Given the description of an element on the screen output the (x, y) to click on. 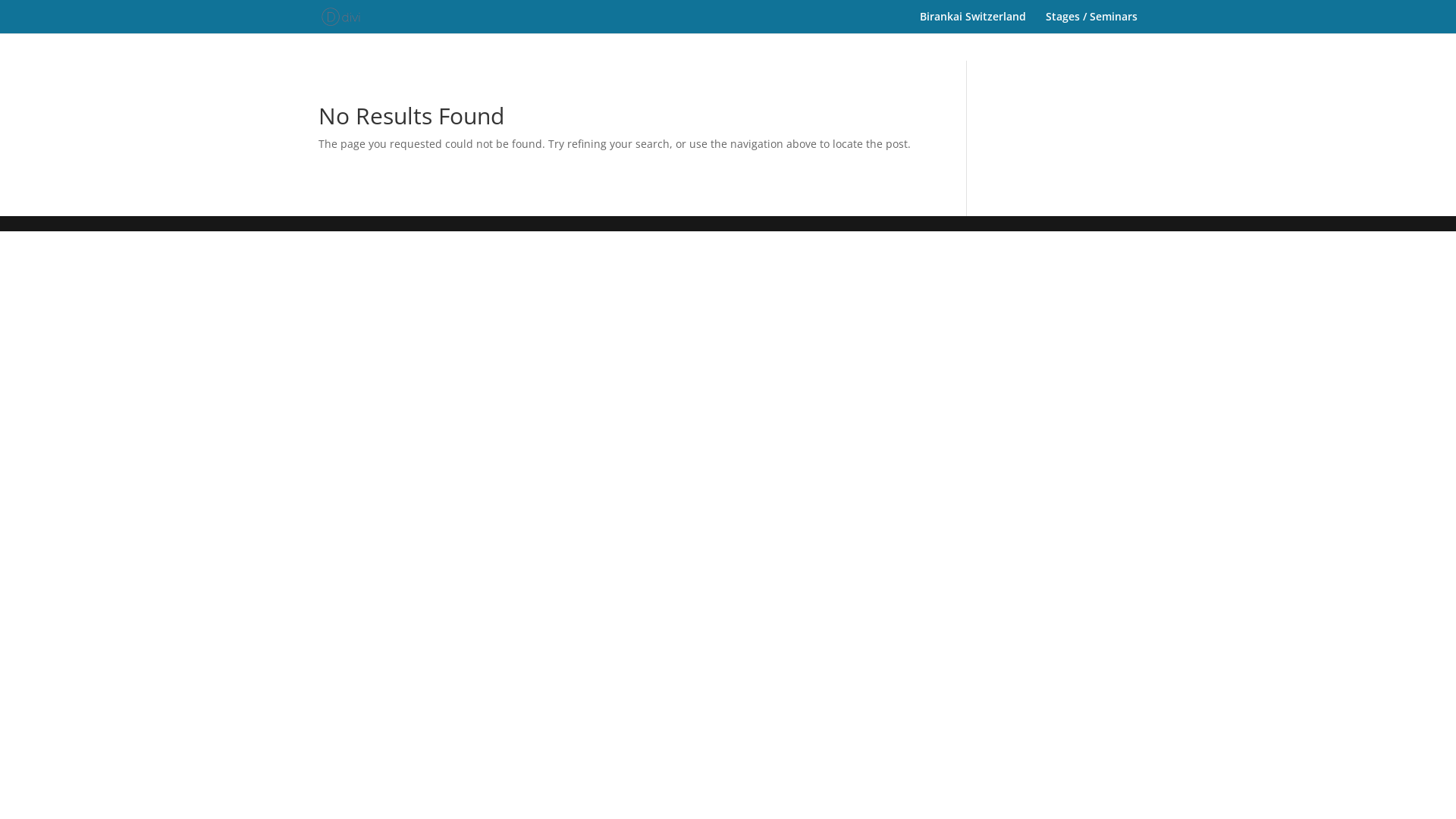
Stages / Seminars Element type: text (1091, 22)
Birankai Switzerland Element type: text (972, 22)
